Given the description of an element on the screen output the (x, y) to click on. 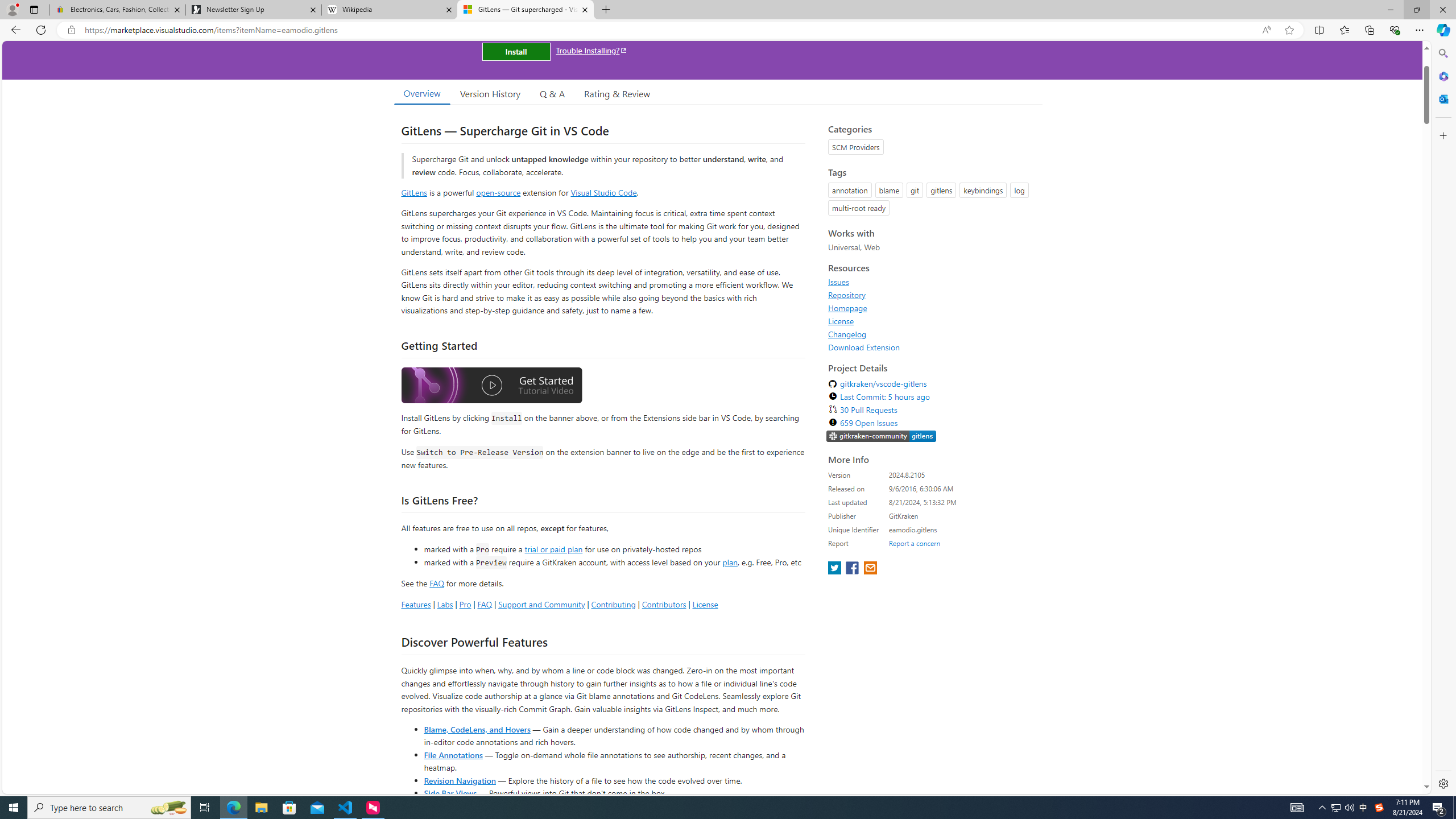
https://slack.gitkraken.com// (881, 436)
Side Bar Views (449, 792)
Address and search bar (669, 29)
Revision Navigation (459, 780)
Pro (464, 603)
Visual Studio Code (603, 192)
trial or paid plan (553, 548)
share extension on twitter (835, 568)
